Given the description of an element on the screen output the (x, y) to click on. 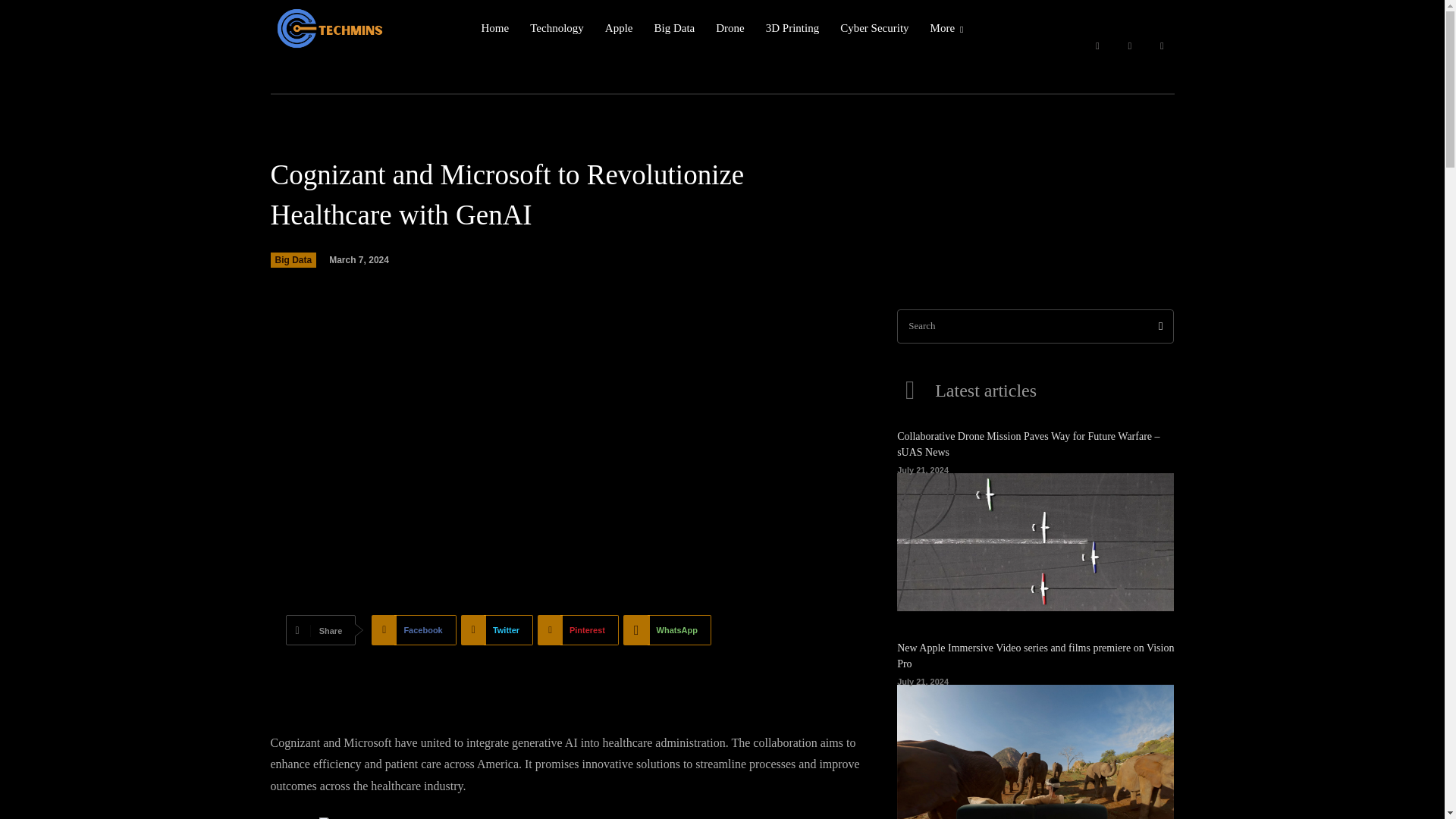
3D Printing (791, 28)
Pinterest (577, 630)
Facebook (413, 630)
Instagram (1130, 46)
Twitter (1162, 46)
Technology (556, 28)
Twitter (496, 630)
Facebook (1096, 46)
Cyber Security (874, 28)
WhatsApp (667, 630)
